Given the description of an element on the screen output the (x, y) to click on. 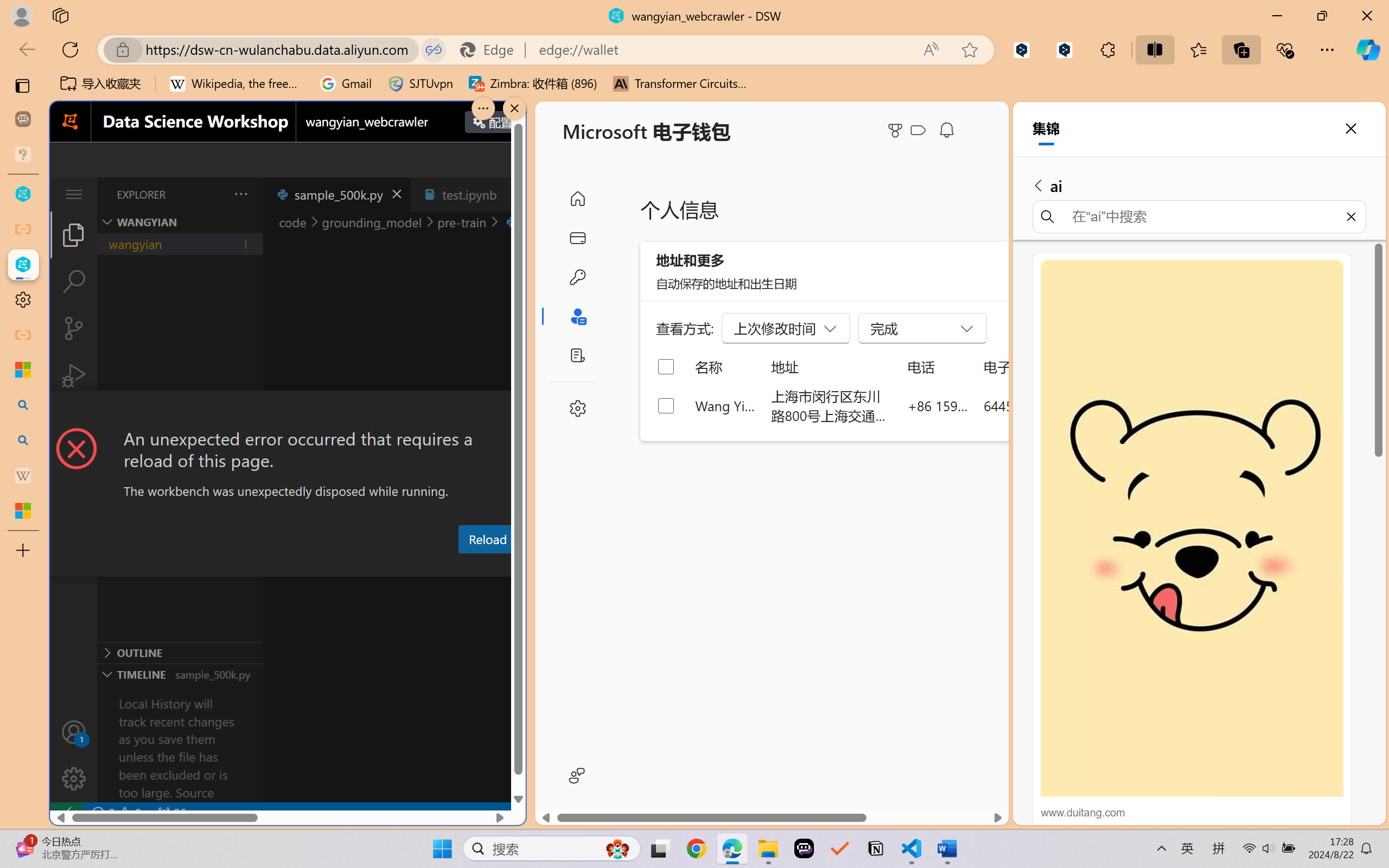
Class: actions-container (287, 410)
Close (Ctrl+F4) (512, 194)
remote (66, 812)
Search (Ctrl+Shift+F) (73, 281)
Microsoft Rewards (896, 129)
